Given the description of an element on the screen output the (x, y) to click on. 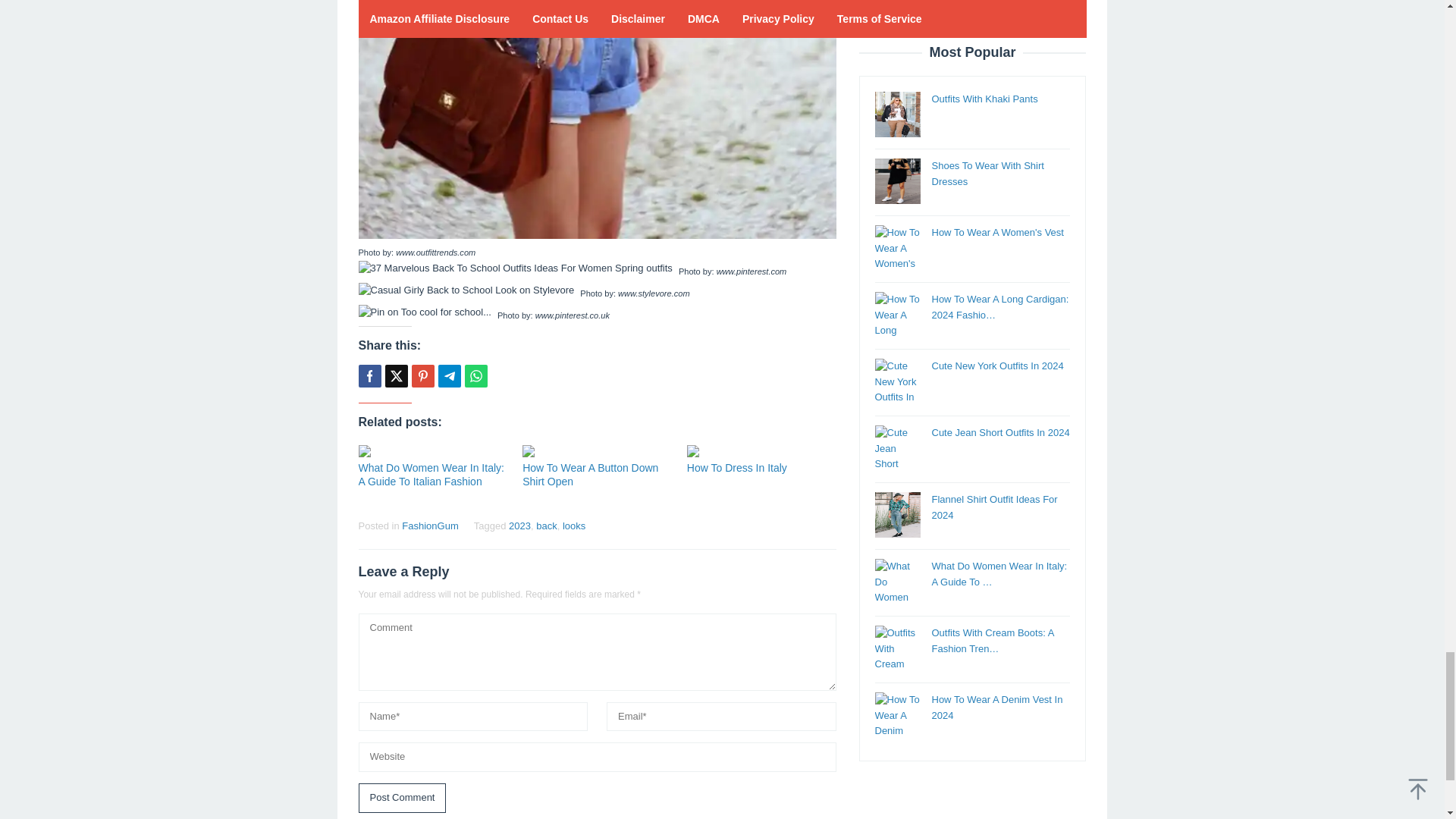
How To Dress In Italy (737, 467)
looks (573, 525)
Whatsapp (475, 375)
Post Comment (401, 797)
How To Wear A Button Down Shirt Open (590, 474)
Pin this (421, 375)
Permalink to: How To Wear A Button Down Shirt Open (596, 451)
Permalink to: How To Dress In Italy (737, 467)
2023 (519, 525)
Tweet this (396, 375)
Telegram Share (449, 375)
Permalink to: How To Wear A Button Down Shirt Open (590, 474)
Permalink to: How To Dress In Italy (761, 451)
What Do Women Wear In Italy: A Guide To Italian Fashion (430, 474)
